Given the description of an element on the screen output the (x, y) to click on. 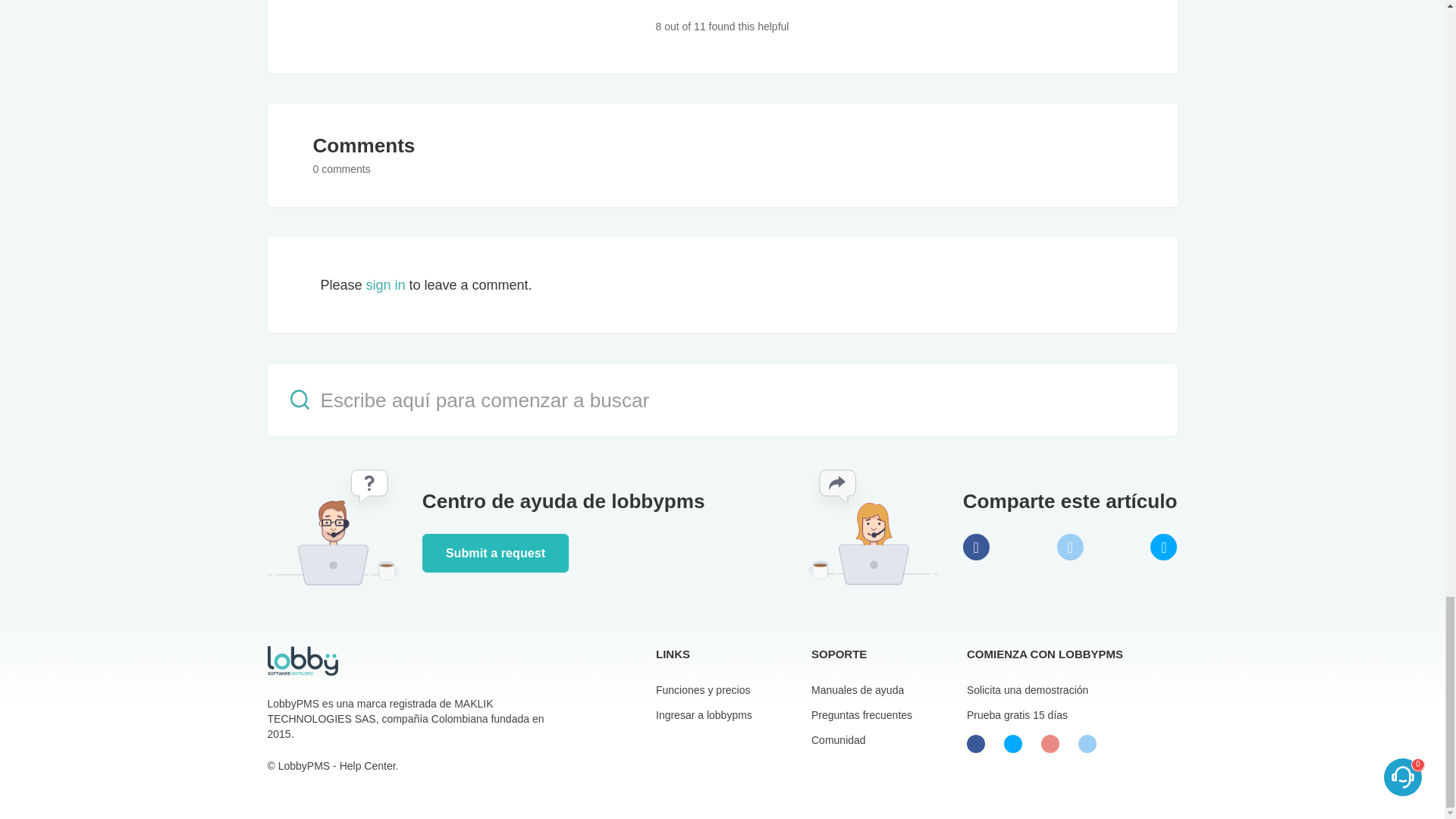
Funciones y precios (703, 689)
LinkedIn (1163, 546)
Facebook (976, 546)
Home (301, 659)
Twitter (1070, 546)
Submit a request (495, 552)
Ingresar a lobbypms (704, 715)
sign in (384, 284)
Manuales de ayuda (857, 689)
Preguntas frecuentes (861, 715)
Comunidad (838, 739)
